Given the description of an element on the screen output the (x, y) to click on. 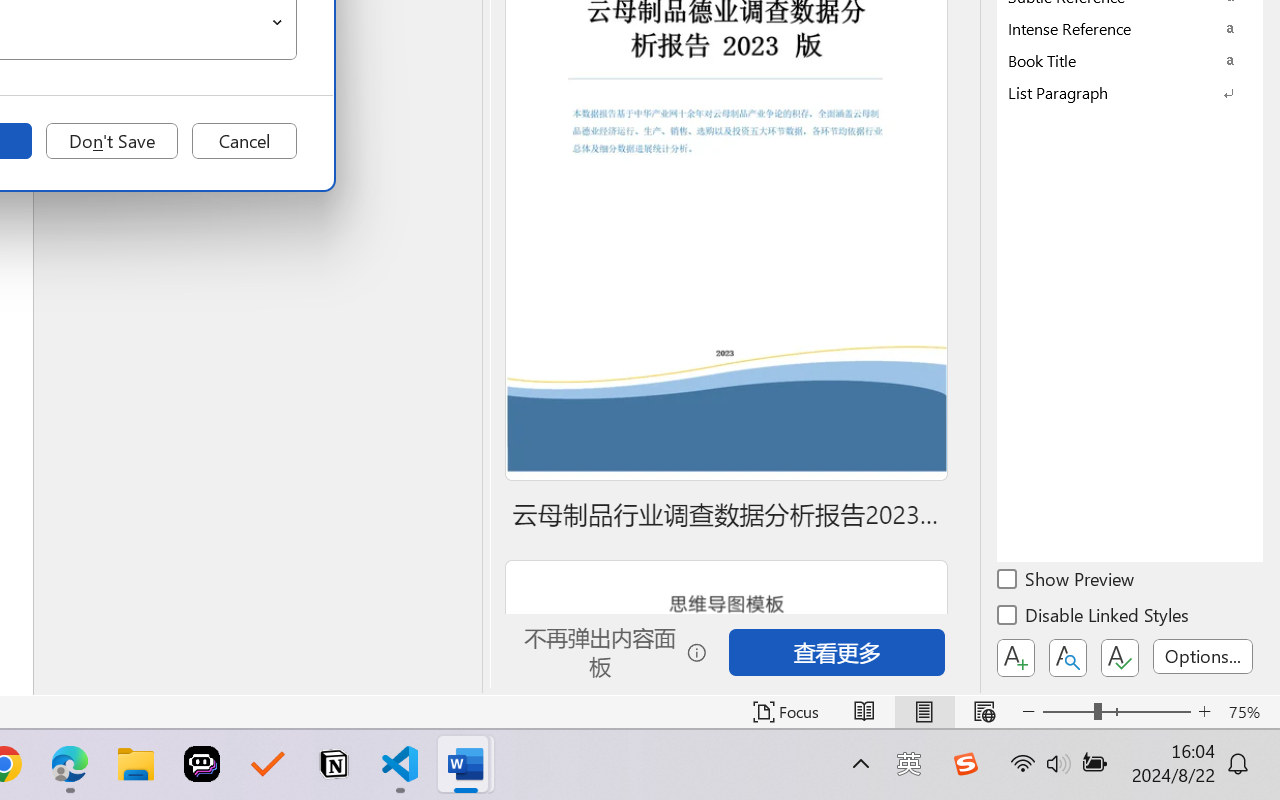
Zoom (1116, 712)
Focus  (786, 712)
Book Title (1130, 60)
Poe (201, 764)
Options... (1203, 656)
Class: NetUIImage (1116, 92)
Cancel (244, 141)
Notion (333, 764)
Print Layout (924, 712)
Intense Reference (1130, 28)
